Given the description of an element on the screen output the (x, y) to click on. 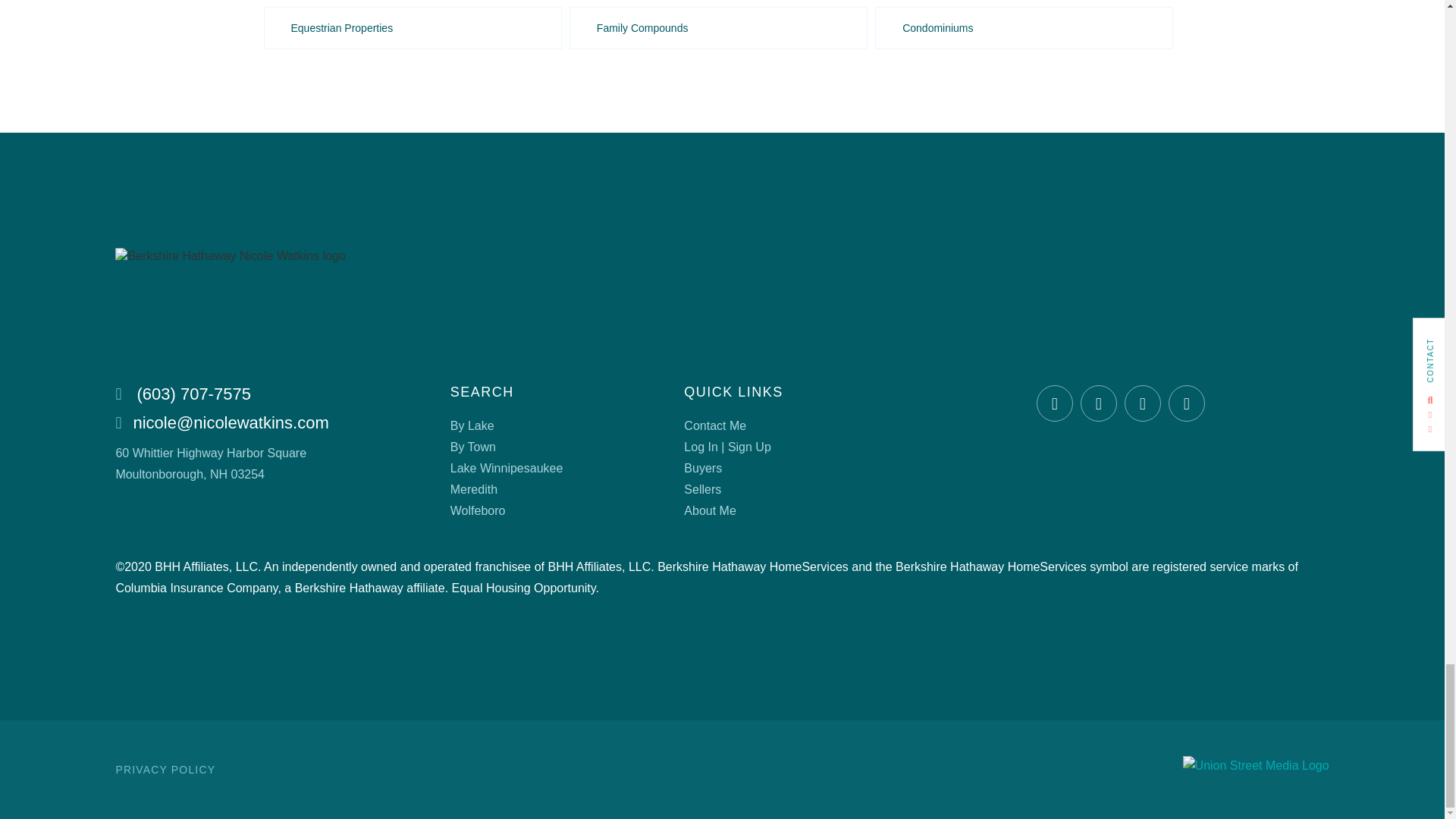
Lakes Region NH Equestrian Properties (412, 27)
Lakes Region NH Condos for Sale (1024, 27)
Lakes Region NH Family Compounds (718, 27)
